Given the description of an element on the screen output the (x, y) to click on. 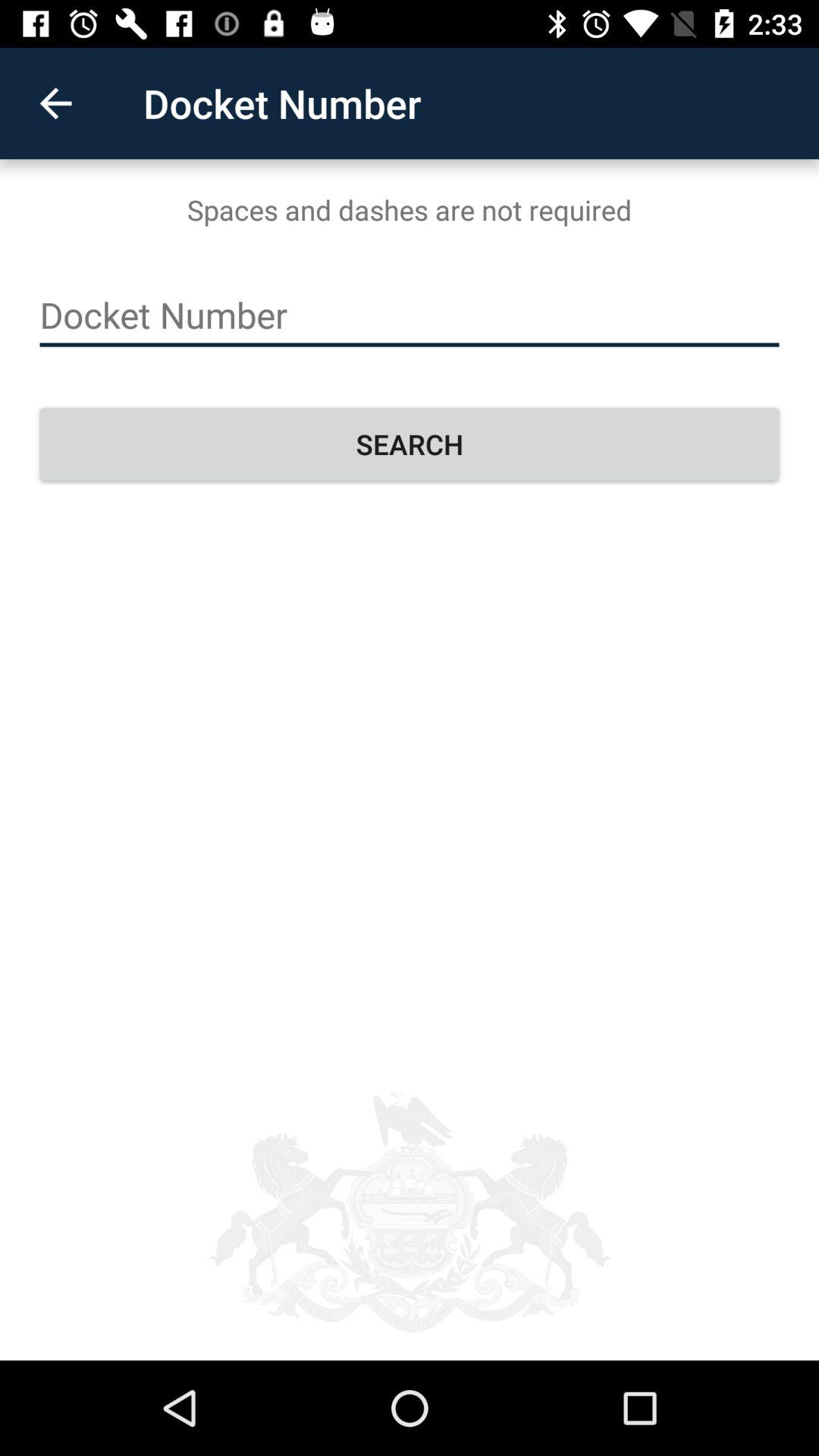
turn on the app next to the docket number icon (55, 103)
